Given the description of an element on the screen output the (x, y) to click on. 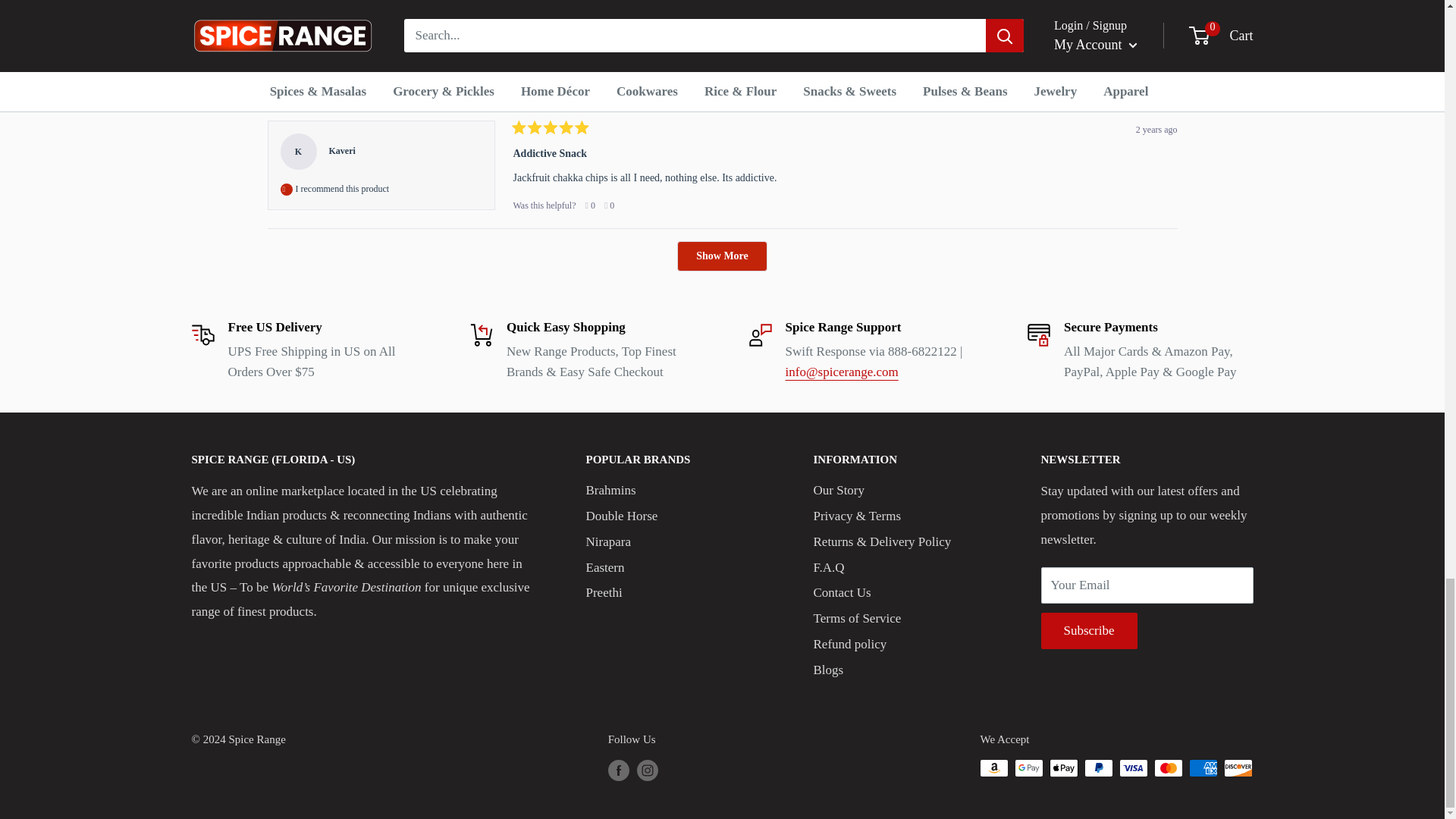
Contact Us (842, 371)
